Given the description of an element on the screen output the (x, y) to click on. 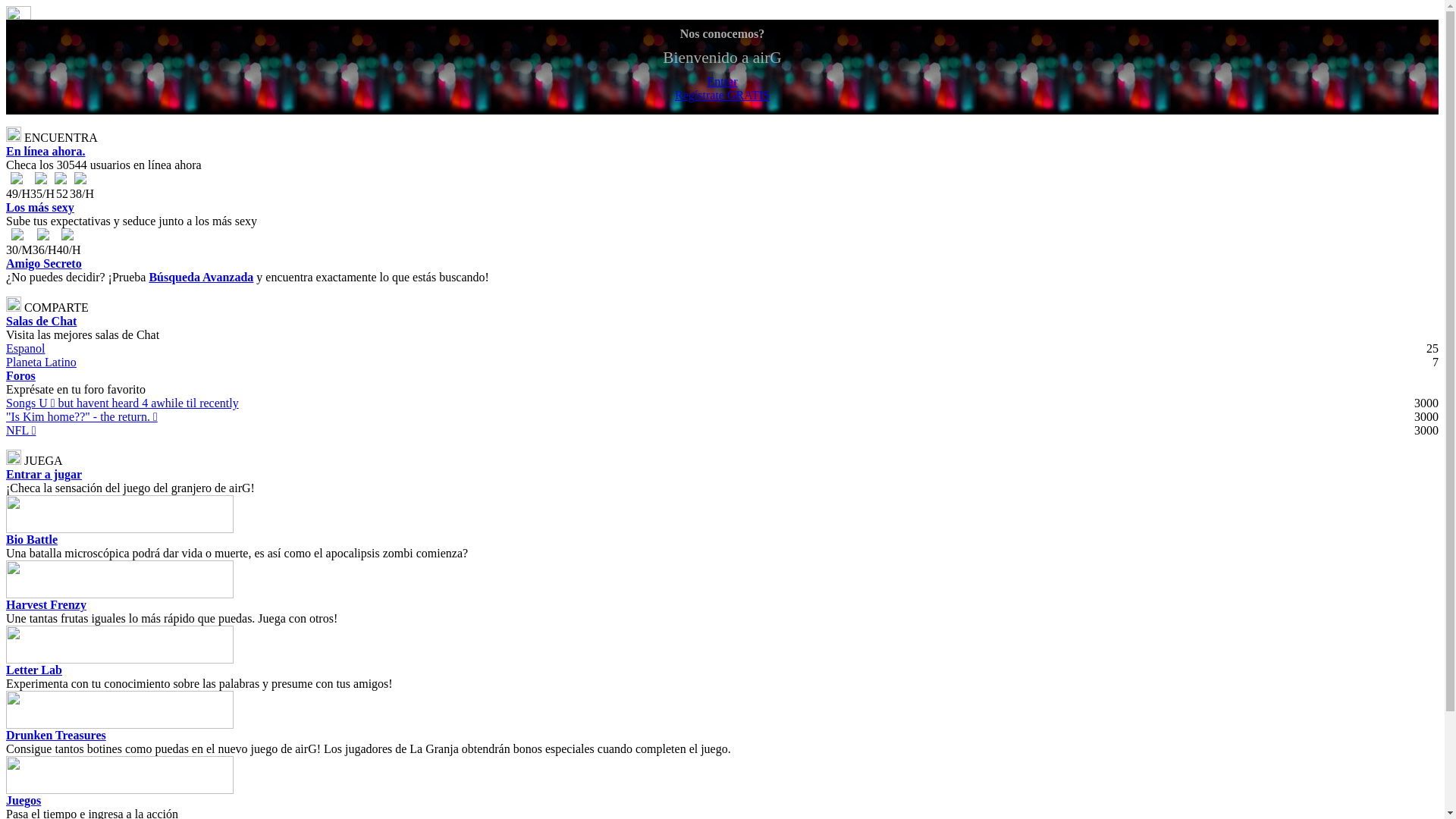
Foros Element type: text (20, 375)
Entrar Element type: text (722, 81)
Bio Battle Element type: text (31, 539)
Harvest Frenzy Element type: text (46, 604)
Amigo Secreto Element type: text (43, 263)
Planeta Latino Element type: text (41, 361)
Entrar a jugar Element type: text (43, 473)
Juegos Element type: text (23, 799)
Letter Lab Element type: text (34, 669)
Salas de Chat Element type: text (41, 320)
Espanol Element type: text (25, 348)
Drunken Treasures Element type: text (56, 734)
